Given the description of an element on the screen output the (x, y) to click on. 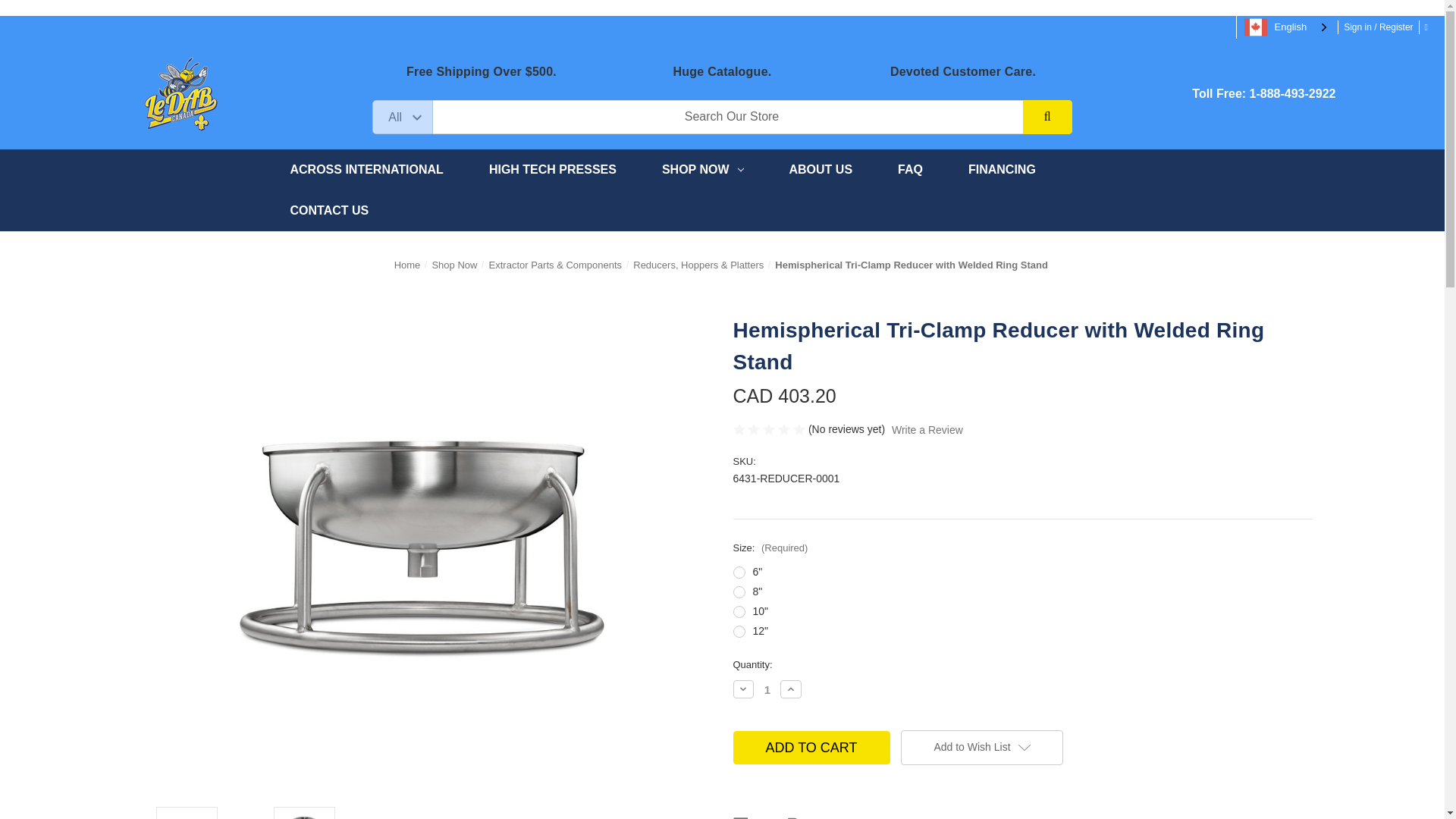
English (1287, 26)
LeDAB (180, 93)
Email (766, 816)
Add to Cart (810, 747)
Hemispherical Tri-Clamp Reducer with Welded Ring Stand (421, 548)
Huge Catalogue. (721, 71)
HIGH TECH PRESSES (552, 169)
Hemispherical Tri-Clamp Reducer with Welded Ring Stand (304, 814)
Hemispherical Tri-Clamp Reducer with Welded Ring Stand (186, 814)
Devoted Customer Care. (962, 71)
Facebook (740, 816)
Print (793, 816)
